Given the description of an element on the screen output the (x, y) to click on. 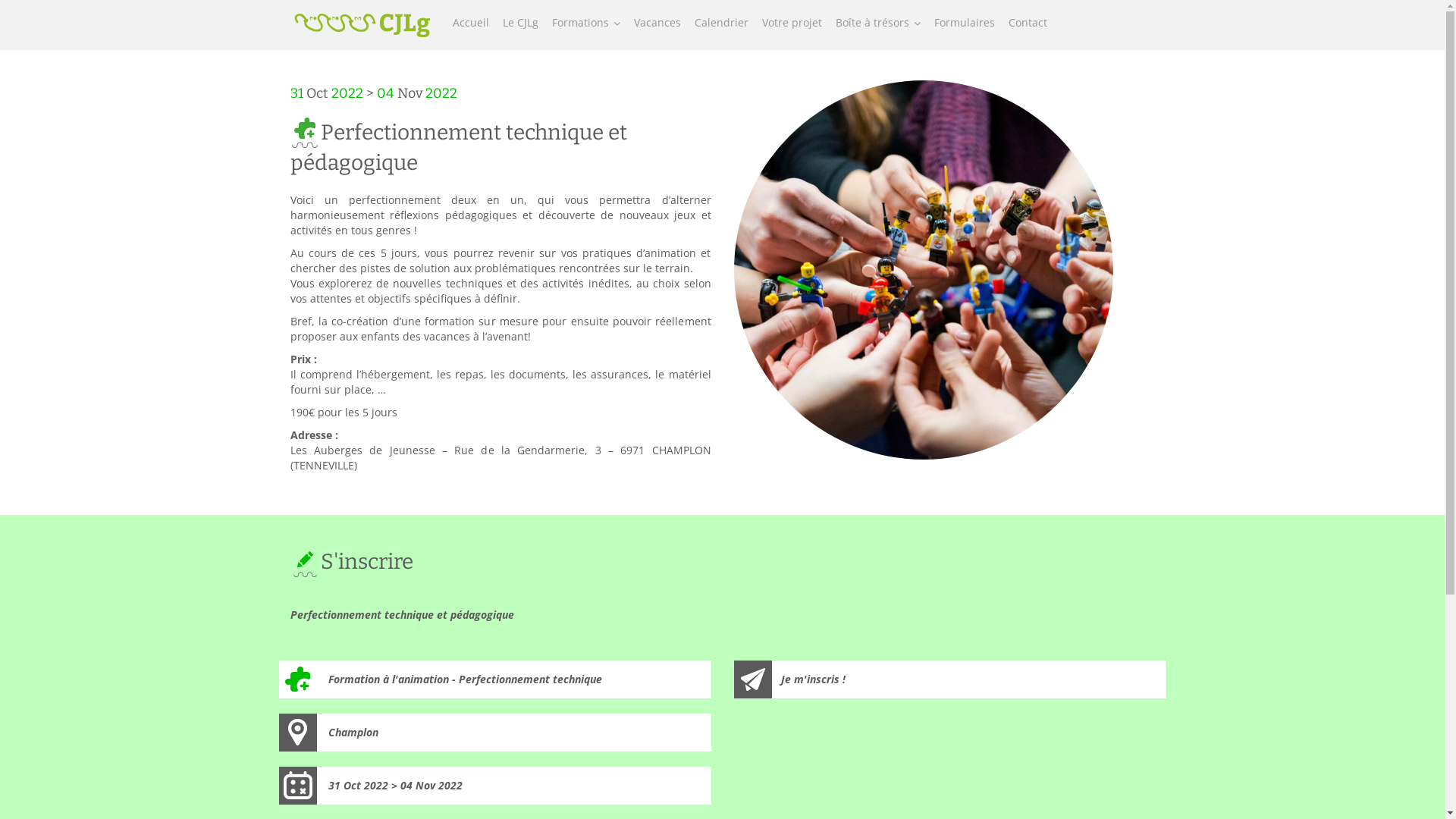
Formulaires Element type: text (963, 22)
Accueil Element type: text (470, 22)
Vacances Element type: text (656, 22)
Je m'inscris ! Element type: text (950, 679)
Calendrier Element type: text (720, 22)
Le CJLg Element type: text (520, 22)
Contact Element type: text (1027, 22)
Votre projet Element type: text (791, 22)
